Given the description of an element on the screen output the (x, y) to click on. 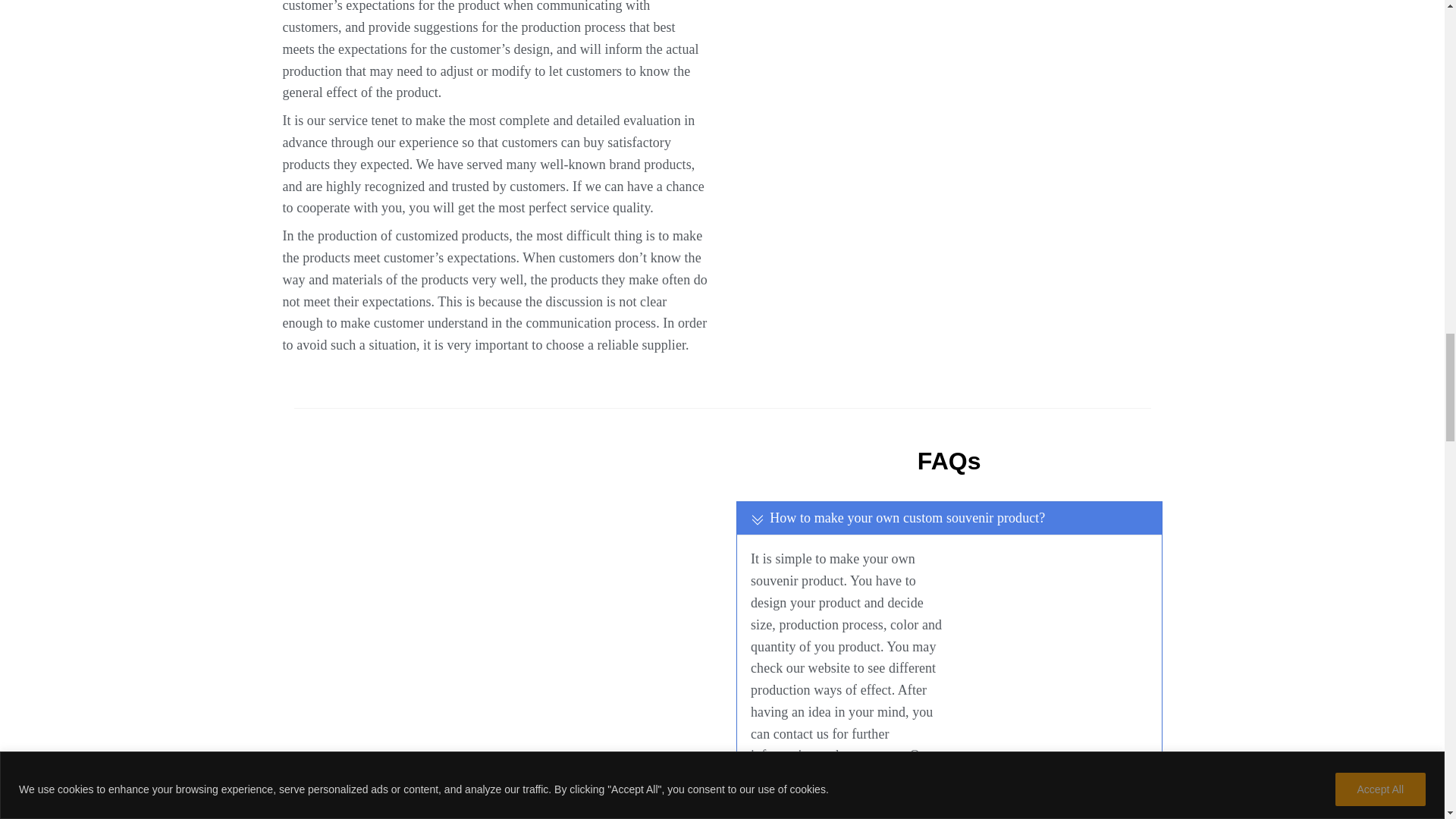
customized lapel pins-6 (839, 128)
pinbadge (494, 511)
customized lapel pins-5 (1058, 128)
keychains (948, 35)
